Given the description of an element on the screen output the (x, y) to click on. 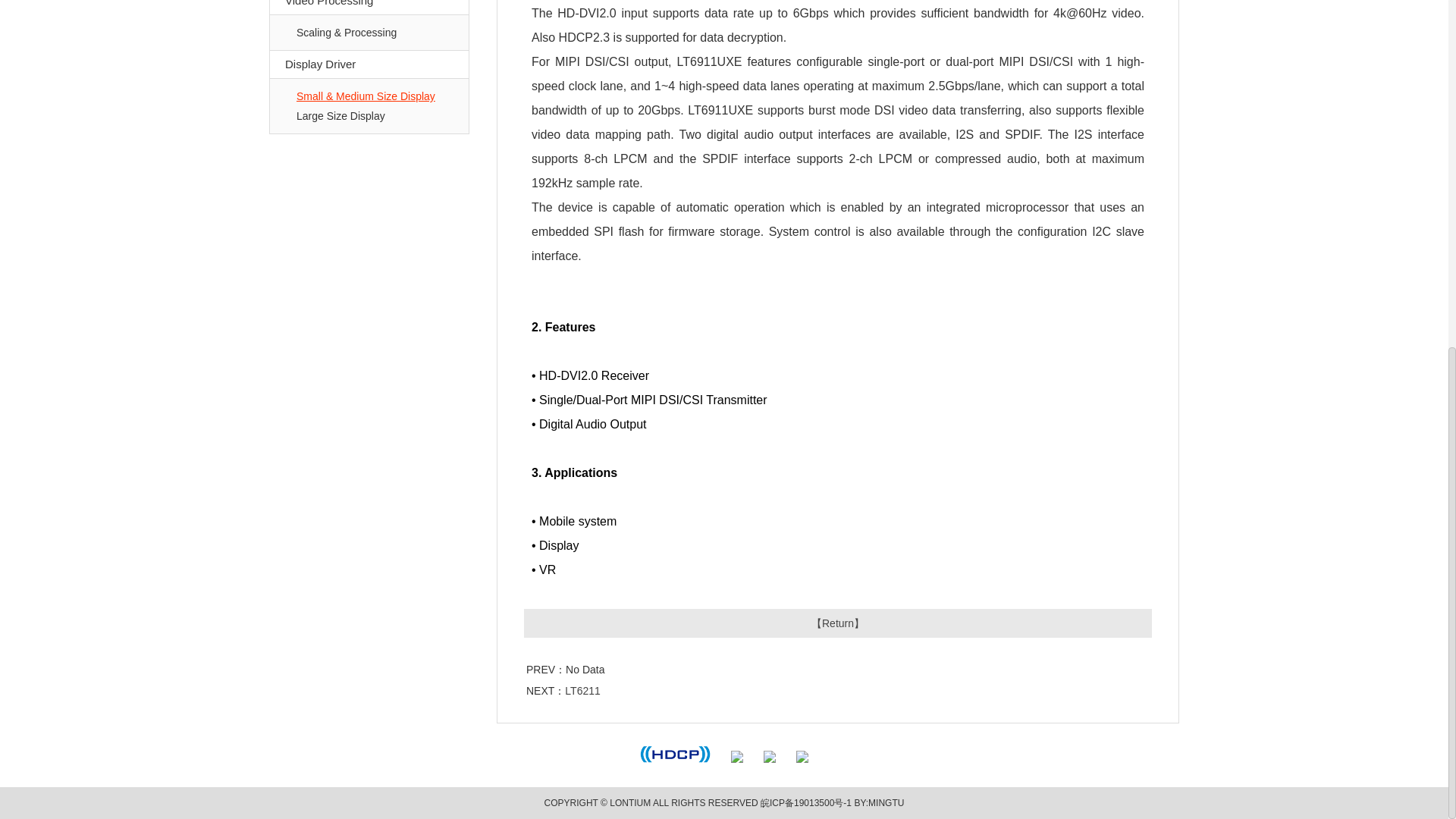
Display Driver (368, 63)
Video Processing (368, 7)
Large Size Display (341, 115)
LT6211 (581, 690)
MINGTU (885, 802)
